Given the description of an element on the screen output the (x, y) to click on. 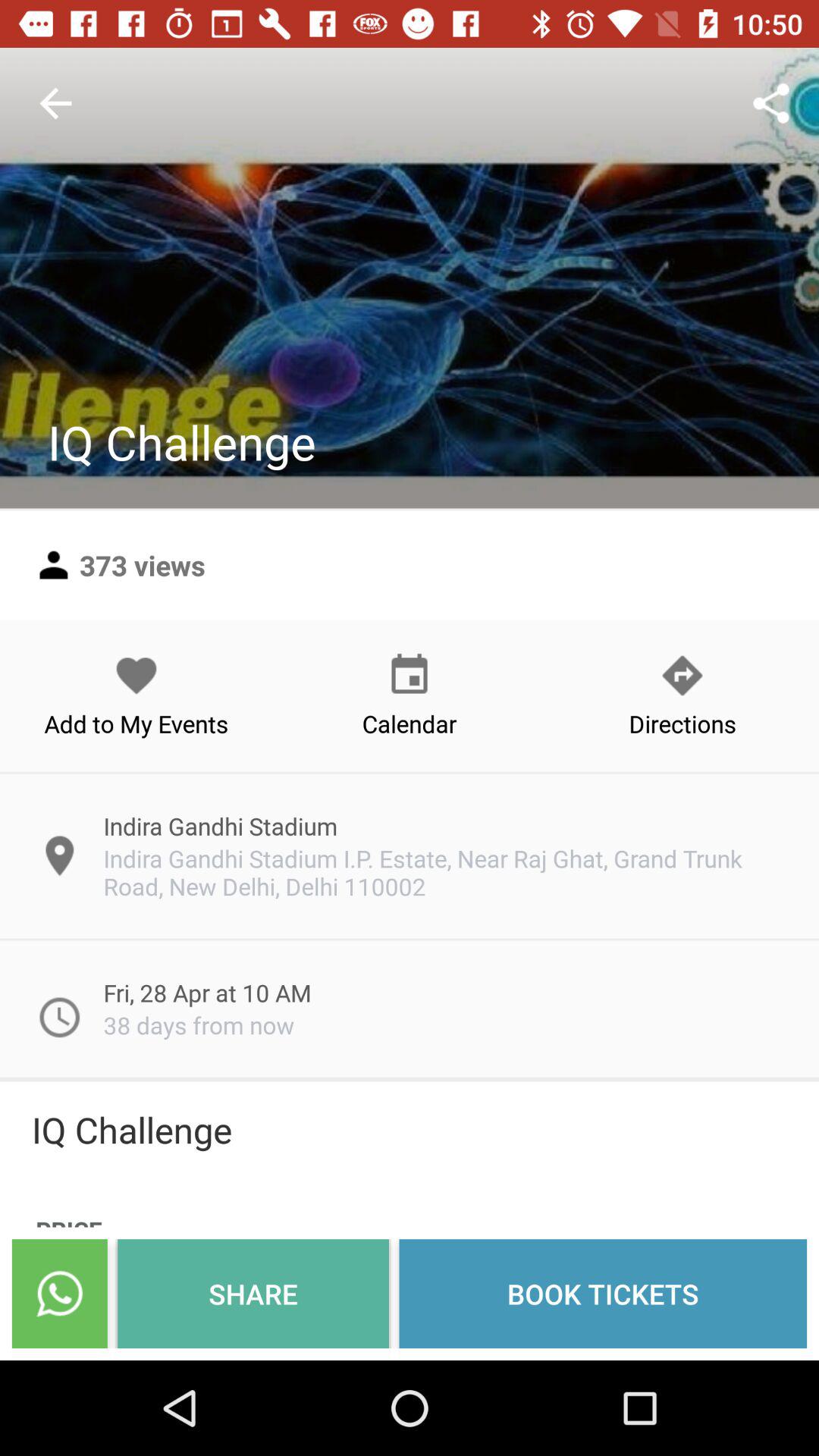
jump until the add to my icon (136, 695)
